Given the description of an element on the screen output the (x, y) to click on. 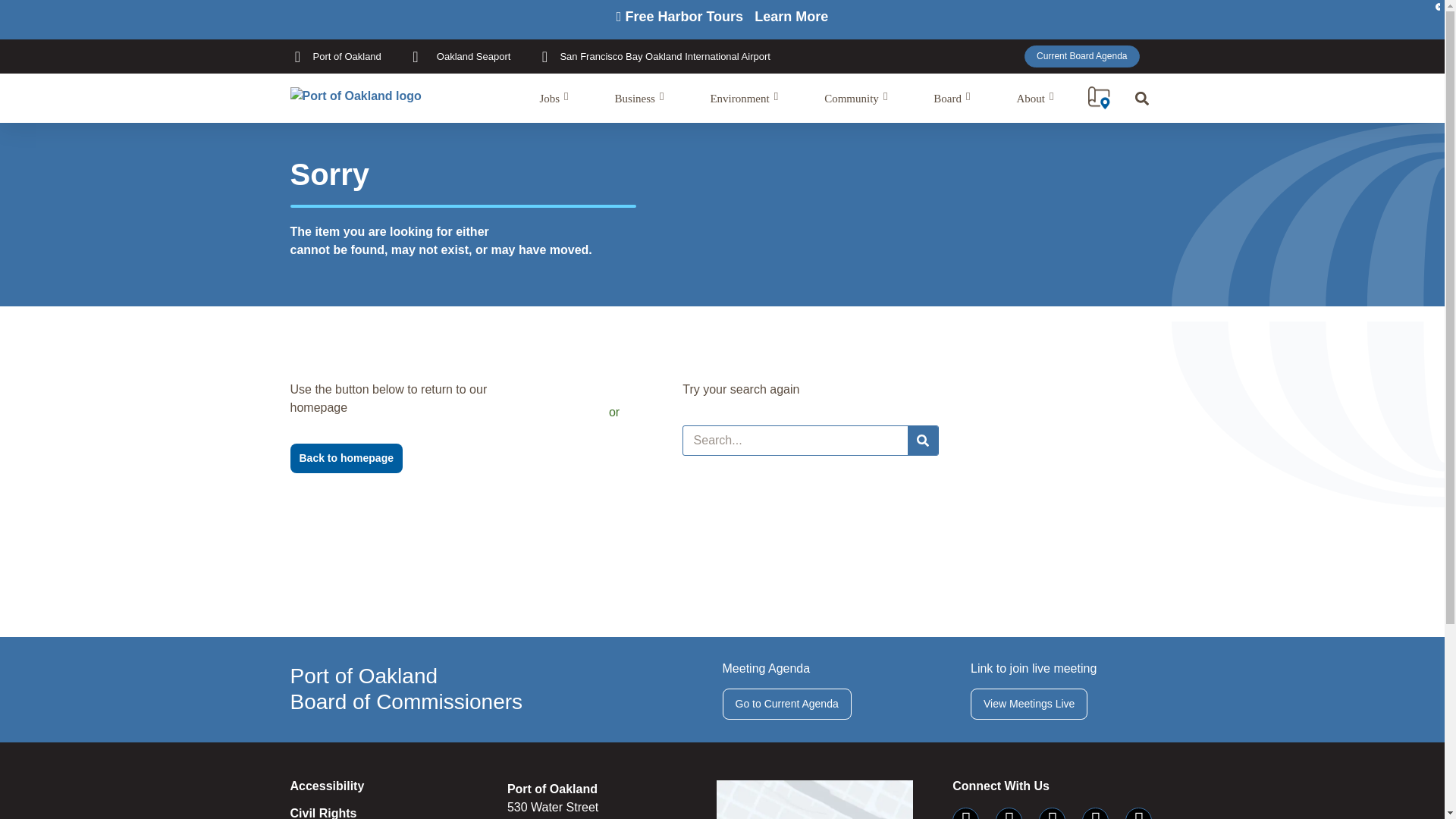
Port of Oakland (334, 56)
Current Board Agenda (1081, 56)
Oakland Seaport (459, 56)
San Francisco Bay Oakland International Airport (653, 56)
Learn More (791, 16)
